Given the description of an element on the screen output the (x, y) to click on. 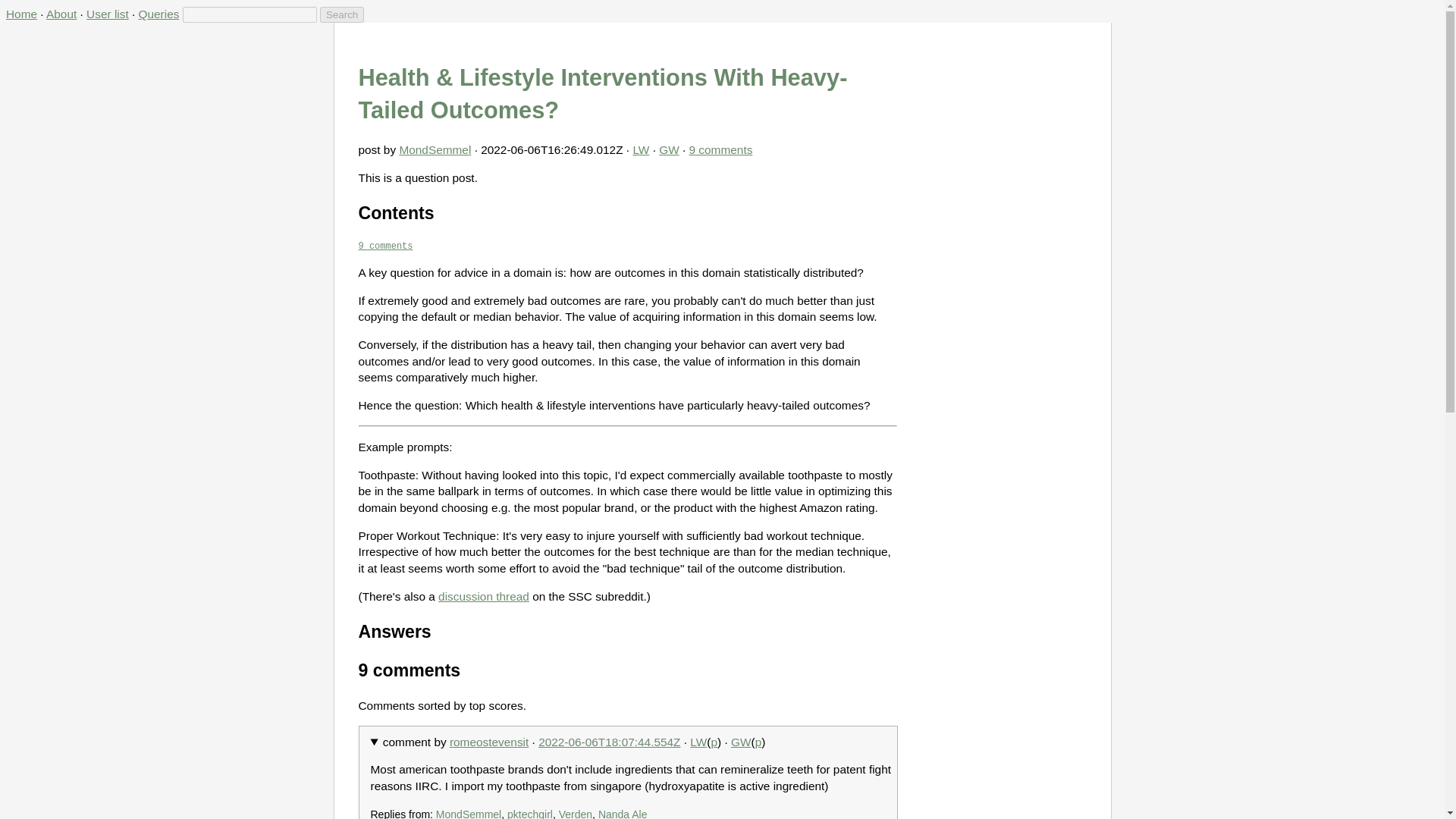
9 comments (720, 149)
GreaterWrong link (669, 149)
romeostevensit (488, 741)
Search (342, 14)
User list (107, 13)
GW (669, 149)
p (713, 741)
MondSemmel (467, 813)
About (61, 13)
p (758, 741)
Queries (158, 13)
LW (698, 741)
Search (342, 14)
pktechgirl (529, 813)
Verden (575, 813)
